Given the description of an element on the screen output the (x, y) to click on. 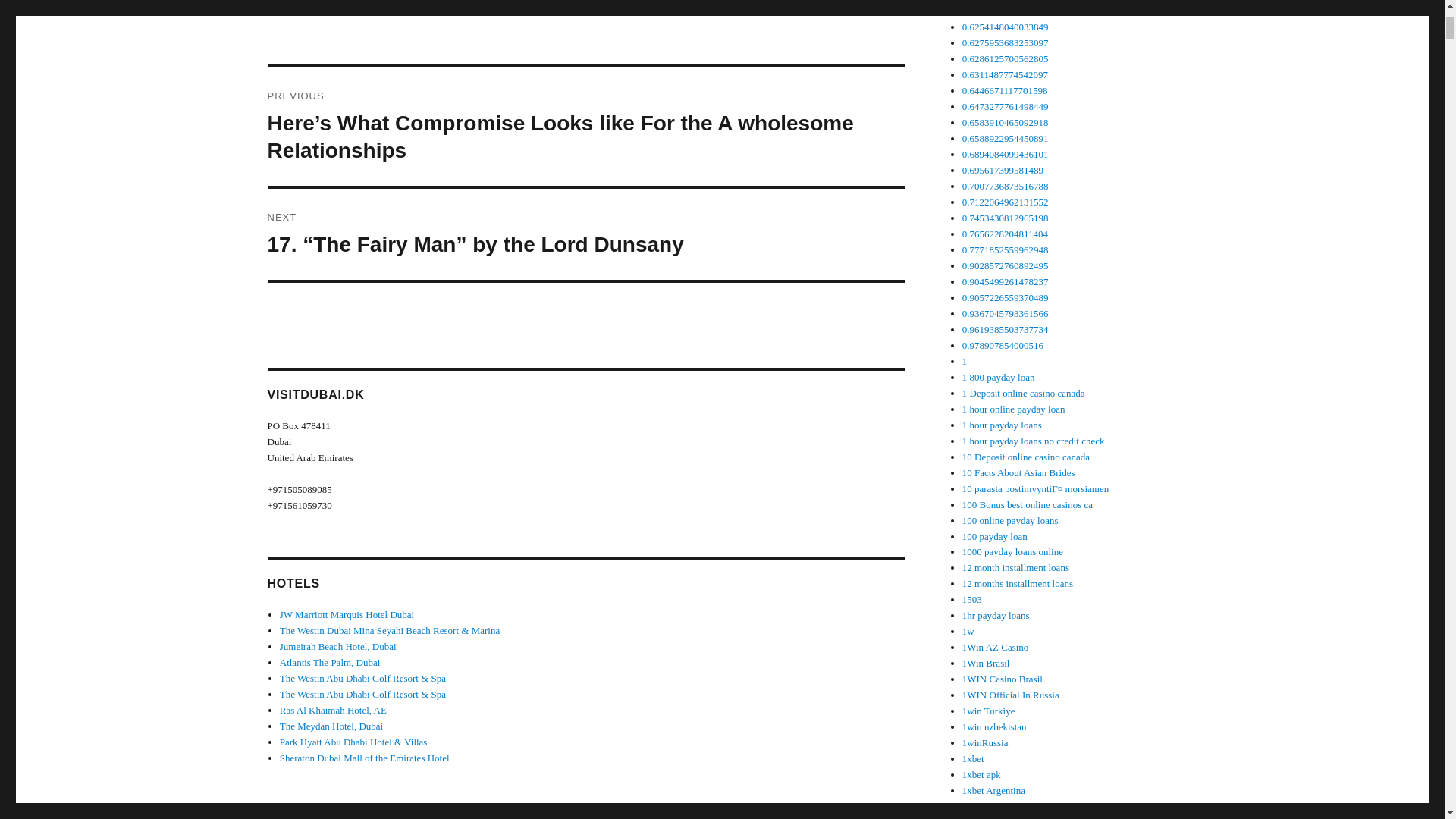
JW Marriott Marquis Hotel Dubai (346, 614)
Sheraton Dubai Mall of the Emirates Hotel (364, 757)
The Meydan Hotel, Dubai (330, 726)
Ras Al Khaimah Hotel, AE (333, 709)
Atlantis The Palm, Dubai (329, 662)
Jumeirah Beach Hotel, Dubai (337, 645)
